Given the description of an element on the screen output the (x, y) to click on. 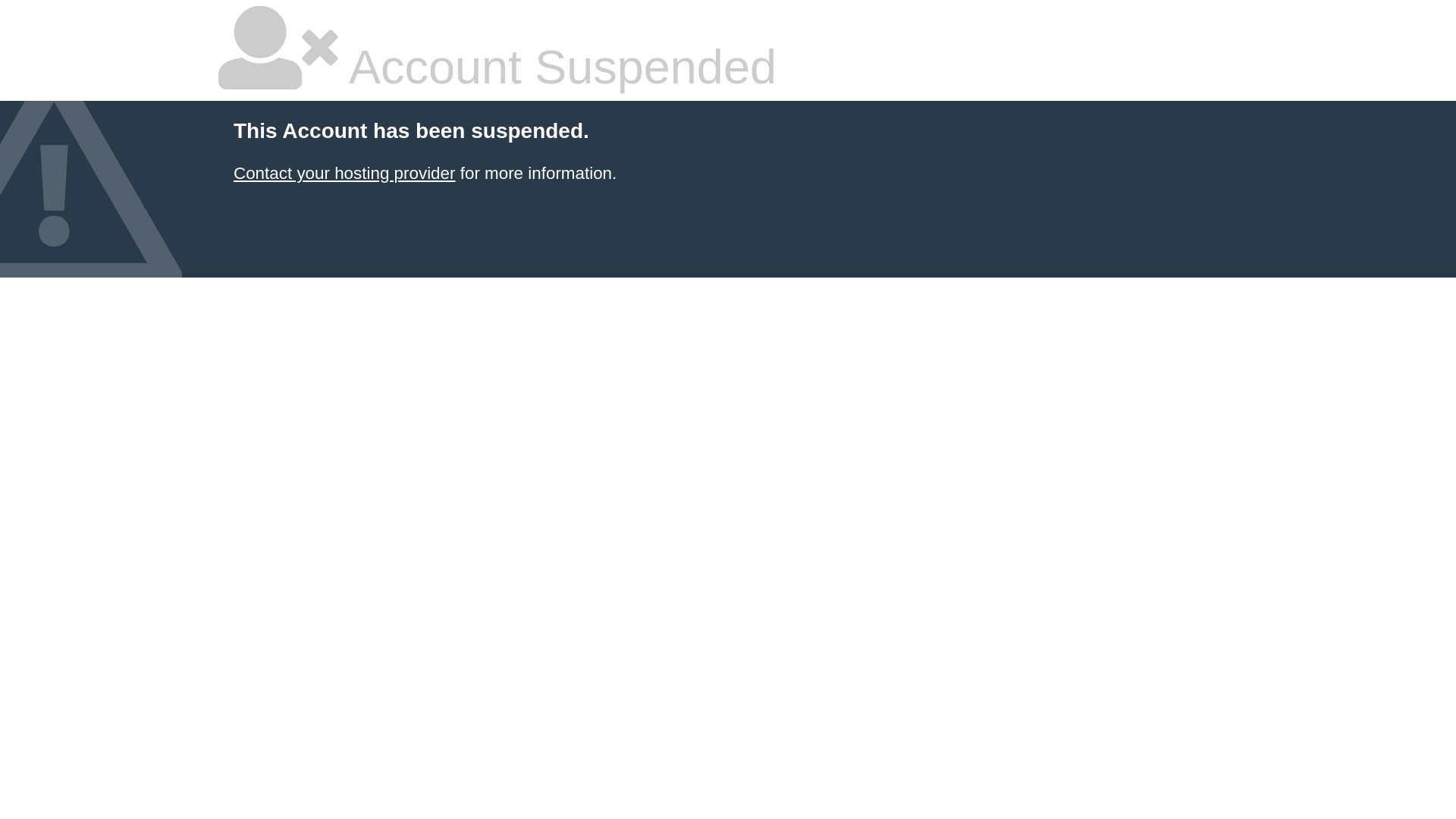
Contact your hosting provider Element type: text (344, 172)
